Given the description of an element on the screen output the (x, y) to click on. 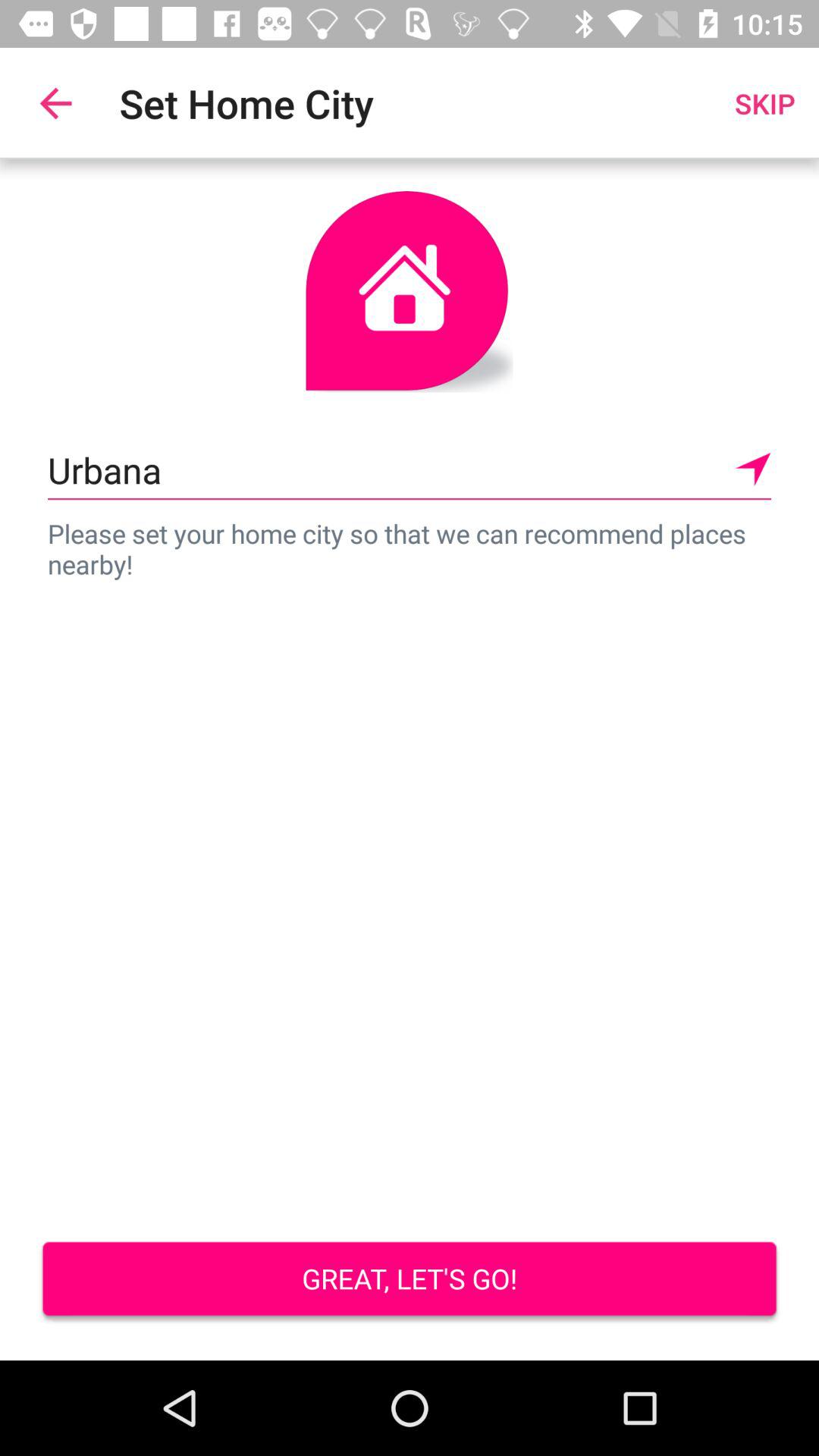
swipe until skip icon (764, 103)
